Given the description of an element on the screen output the (x, y) to click on. 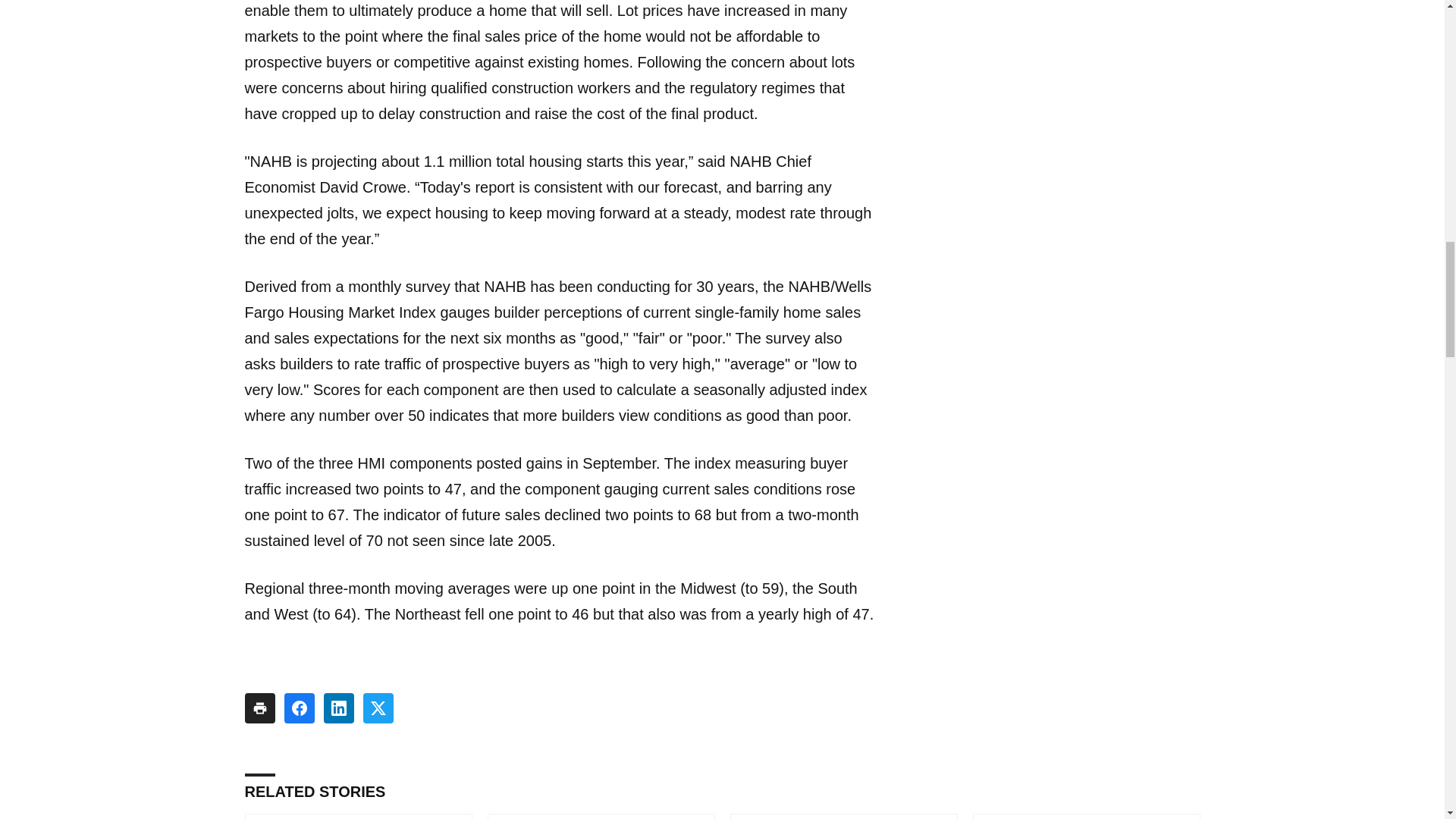
Share To linkedin (338, 707)
Share To twitter (377, 707)
Share To print (259, 707)
Share To facebook (298, 707)
